Given the description of an element on the screen output the (x, y) to click on. 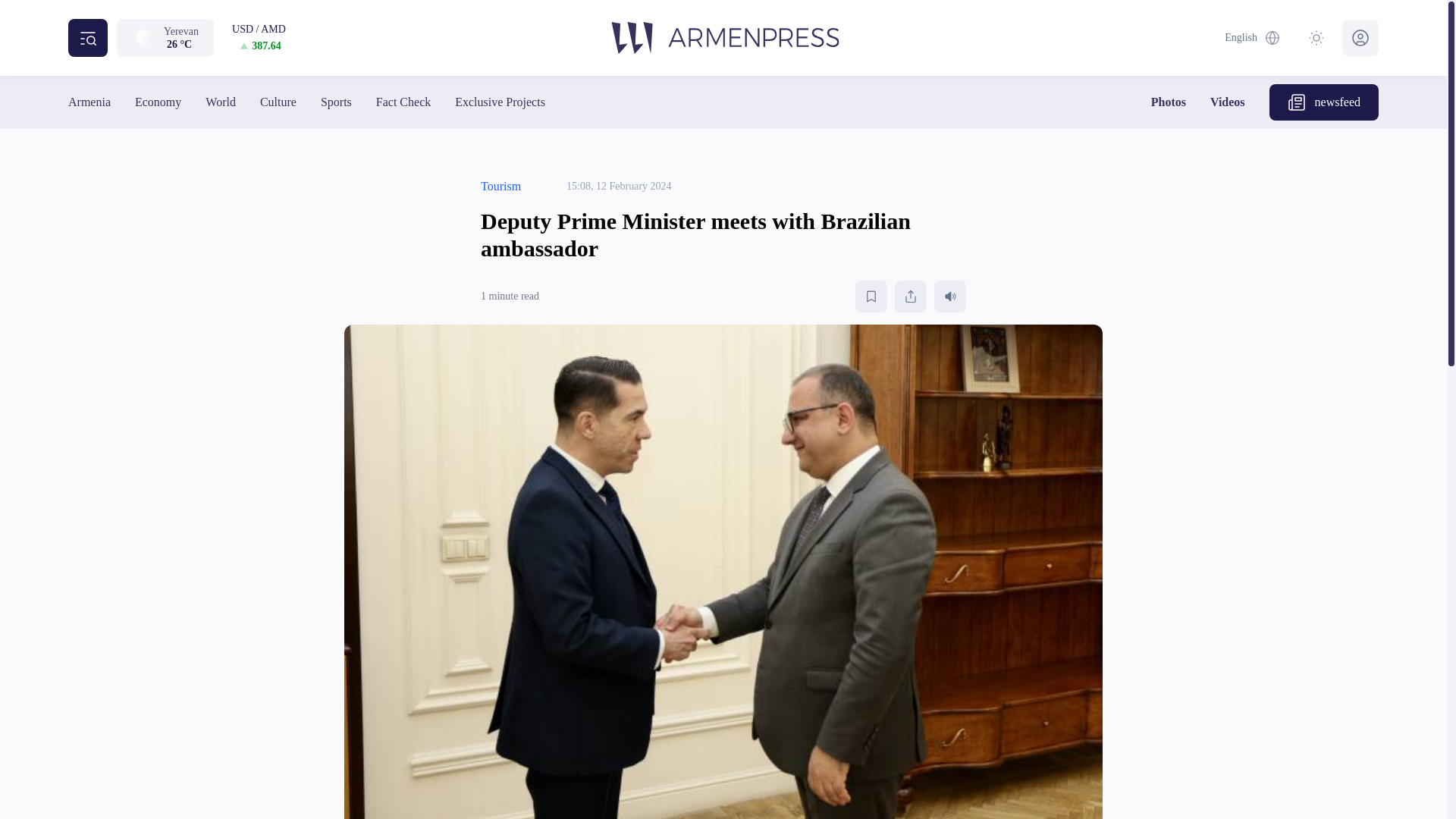
Photos (1168, 102)
Exclusive Projects (499, 102)
Economy (157, 102)
Culture (278, 102)
Sports (336, 102)
English (1252, 37)
Videos (1226, 102)
Tourism (500, 186)
Armenia (89, 102)
World (220, 102)
